Given the description of an element on the screen output the (x, y) to click on. 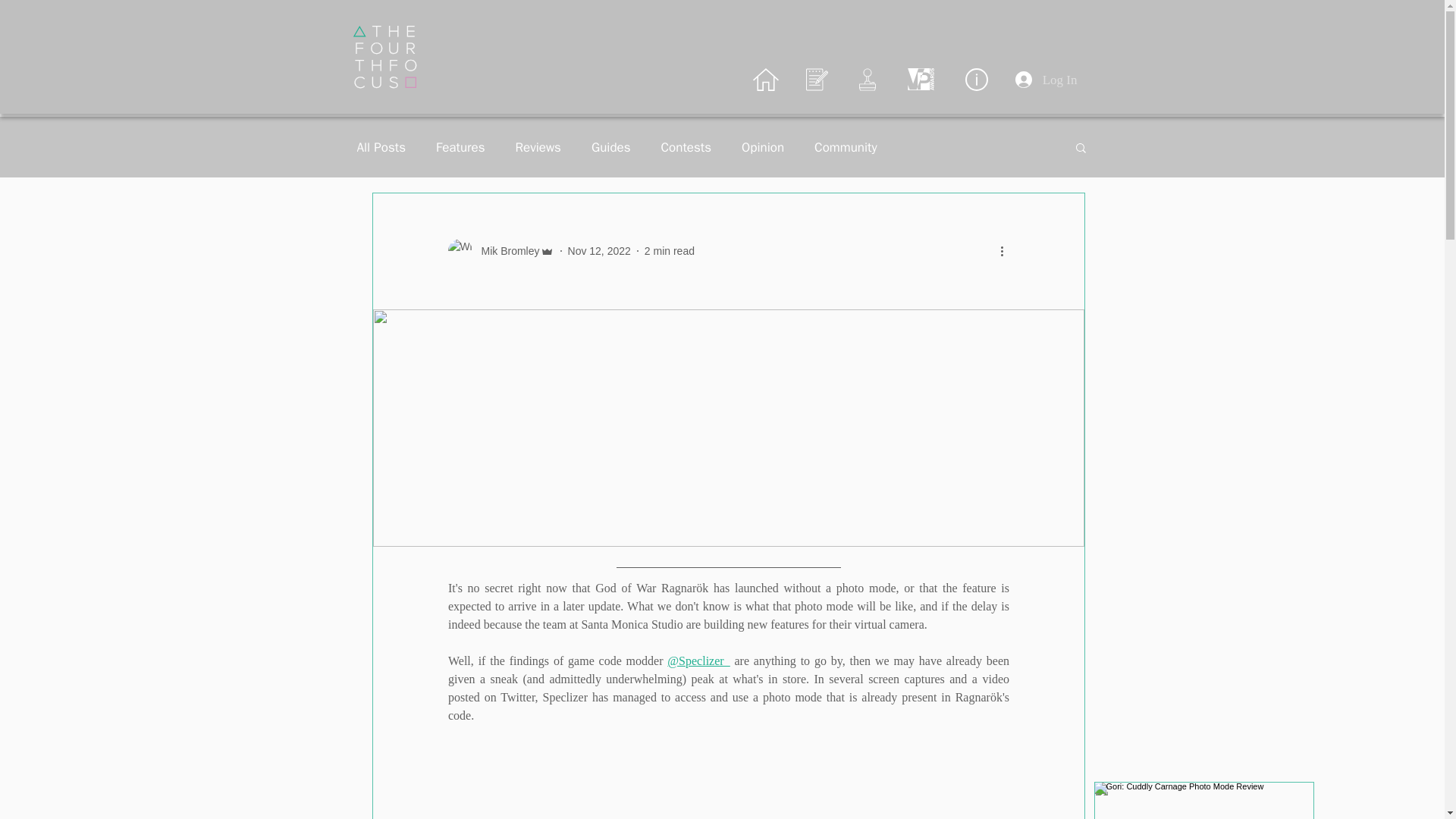
Nov 12, 2022 (598, 250)
Features (459, 146)
Log In (1045, 80)
Guides (610, 146)
Contests (686, 146)
Reviews (537, 146)
Community (845, 146)
2 min read (669, 250)
Mik Bromley (499, 250)
Mik Bromley (504, 250)
